Given the description of an element on the screen output the (x, y) to click on. 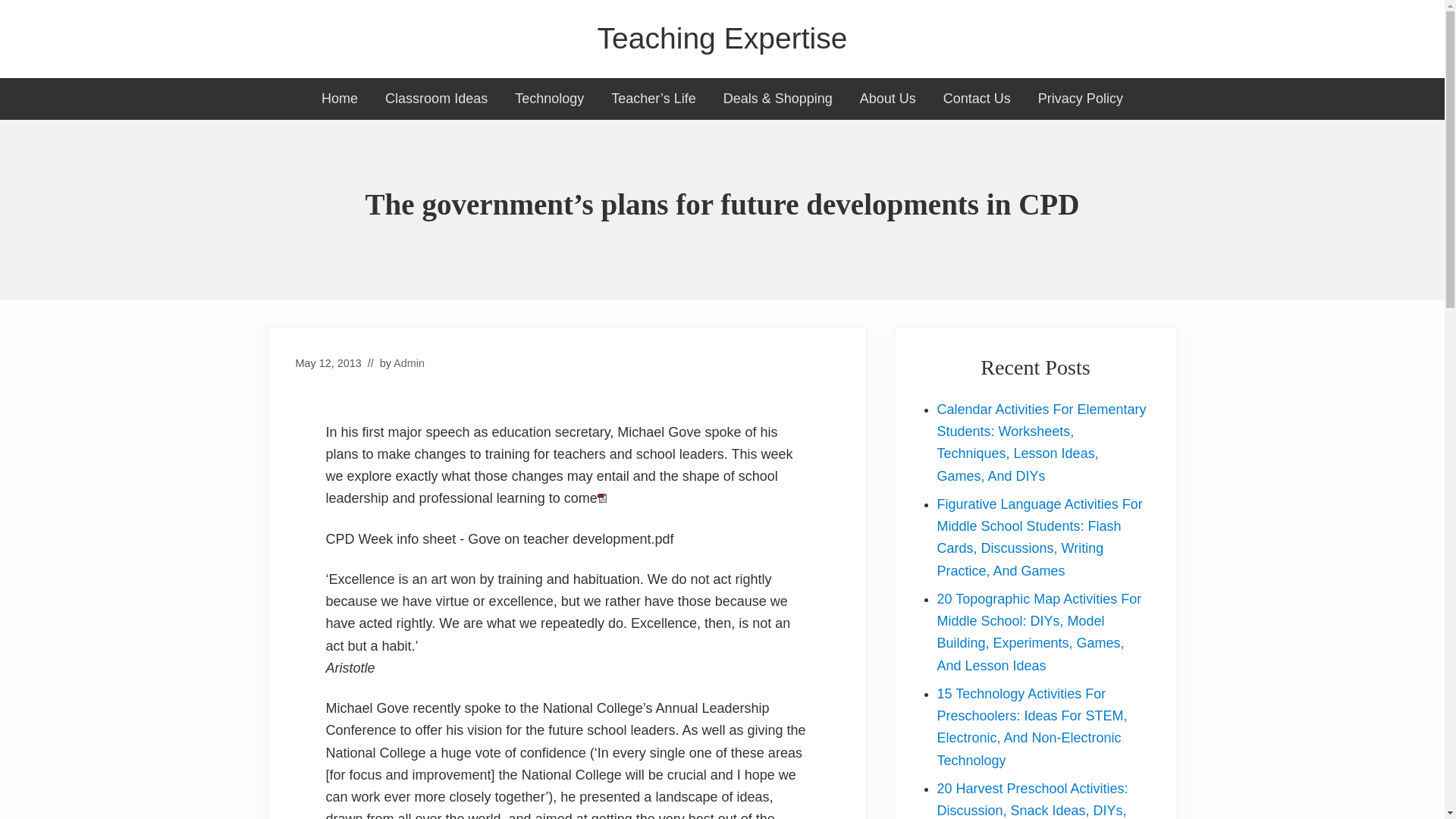
Teaching Expertise (721, 38)
Admin (409, 363)
Privacy Policy (1081, 98)
About Us (887, 98)
Home (339, 98)
Technology (548, 98)
Contact Us (977, 98)
Classroom Ideas (435, 98)
